Given the description of an element on the screen output the (x, y) to click on. 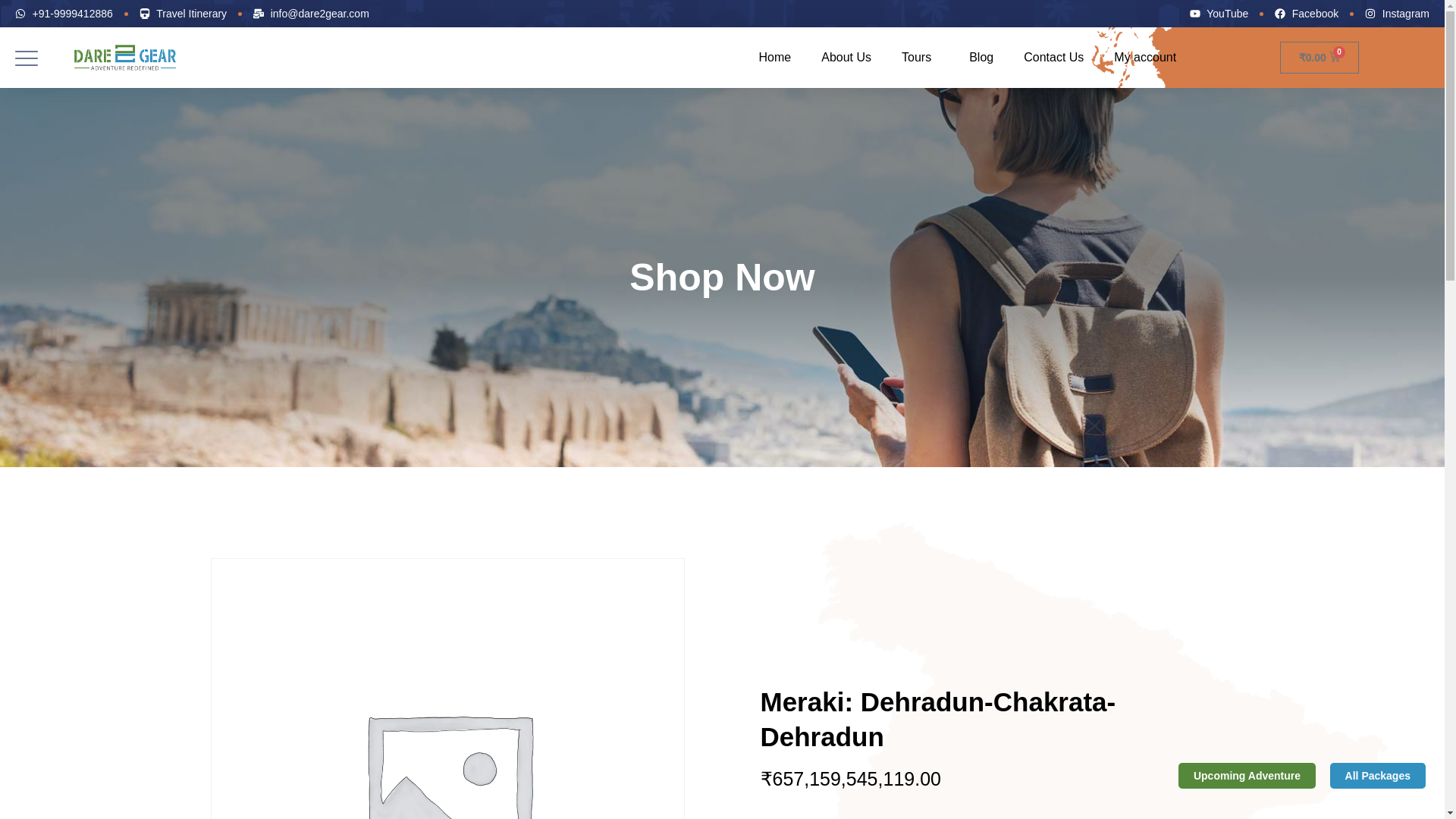
Contact Us (1054, 57)
My account (1148, 57)
About Us (846, 57)
Instagram (1397, 13)
YouTube (1219, 13)
Facebook (1306, 13)
Tours (919, 57)
Travel Itinerary (183, 13)
Home (775, 57)
Blog (981, 57)
